Given the description of an element on the screen output the (x, y) to click on. 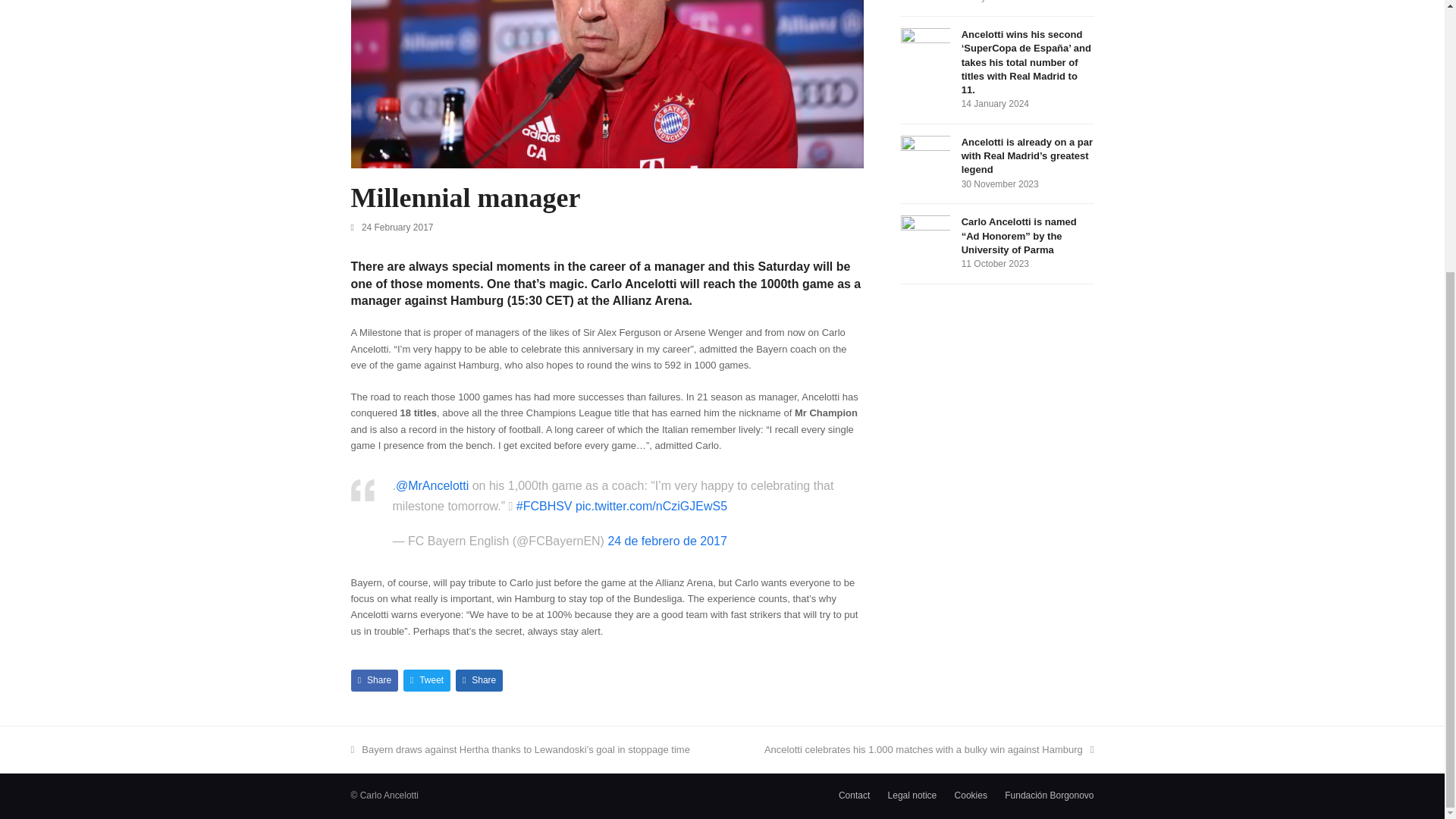
Tweet (427, 680)
24 de febrero de 2017 (666, 540)
Cookies (971, 795)
Contact (853, 795)
Share (479, 680)
Share (373, 680)
Legal notice (912, 795)
